Given the description of an element on the screen output the (x, y) to click on. 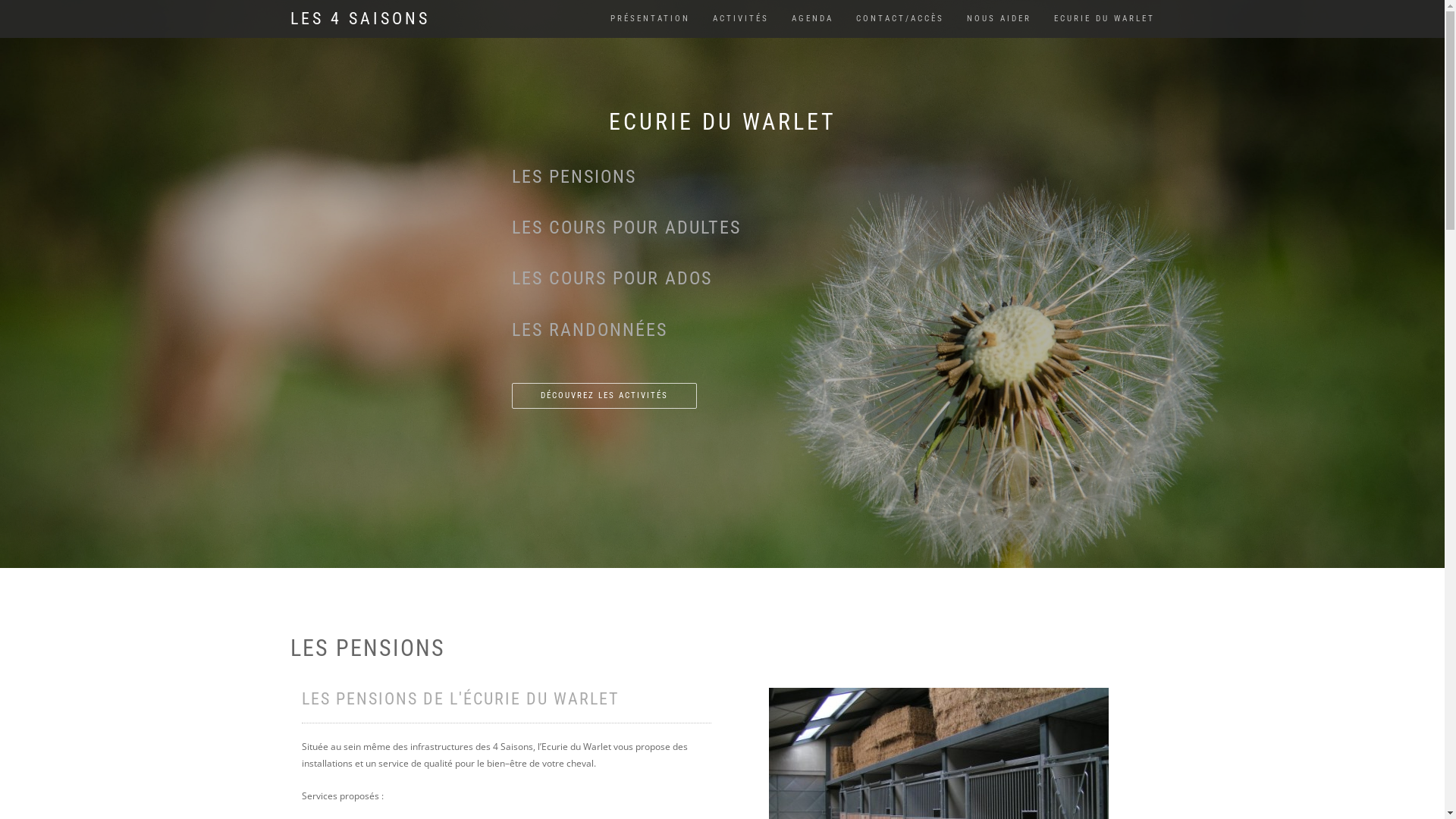
AGENDA Element type: text (811, 18)
NOUS AIDER Element type: text (998, 18)
LES PENSIONS Element type: text (573, 176)
LES 4 SAISONS Element type: text (360, 18)
LES COURS POUR ADOS Element type: text (611, 277)
LES COURS POUR ADULTES Element type: text (625, 227)
ECURIE DU WARLET Element type: text (1103, 18)
